Given the description of an element on the screen output the (x, y) to click on. 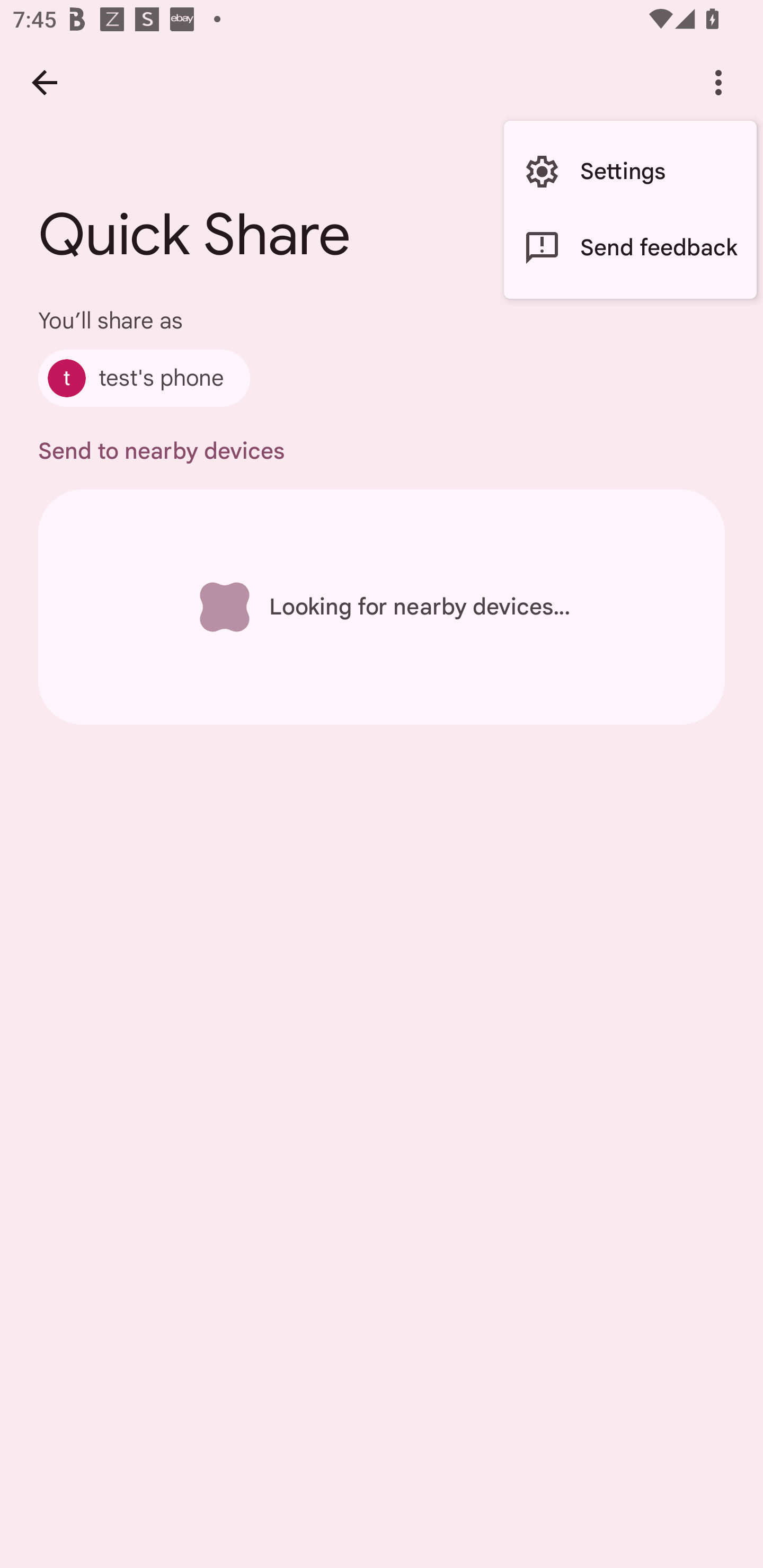
Settings (629, 171)
Send feedback (629, 247)
